Given the description of an element on the screen output the (x, y) to click on. 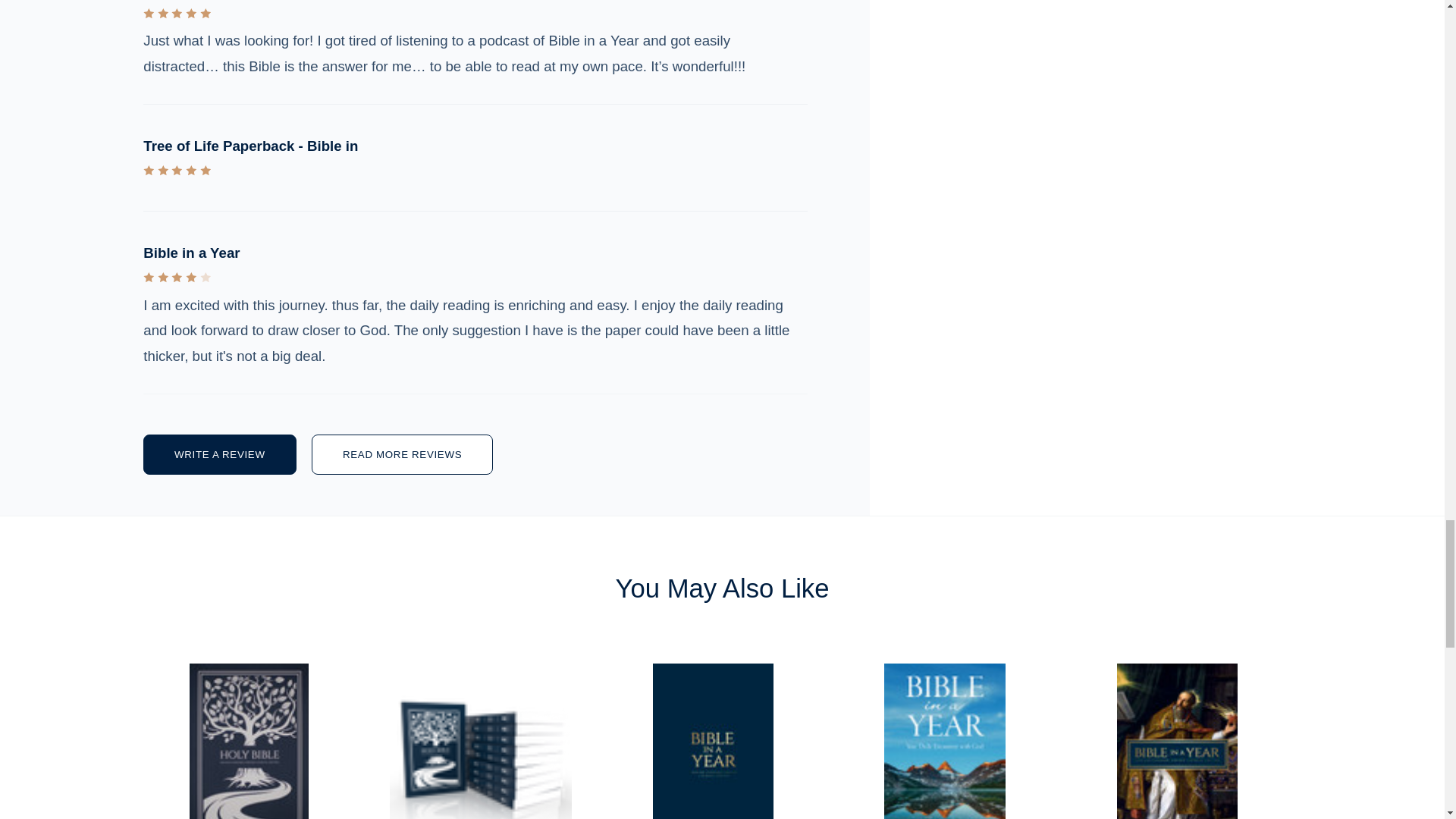
Bible in a Year - RSV-2CE - Paperback (944, 741)
Bundle of 10:  White Tree of Life Paperback Bible (481, 741)
White Tree of Life Paperback Bible (248, 741)
Blue Paperback - Bible in a Year (712, 741)
